Given the description of an element on the screen output the (x, y) to click on. 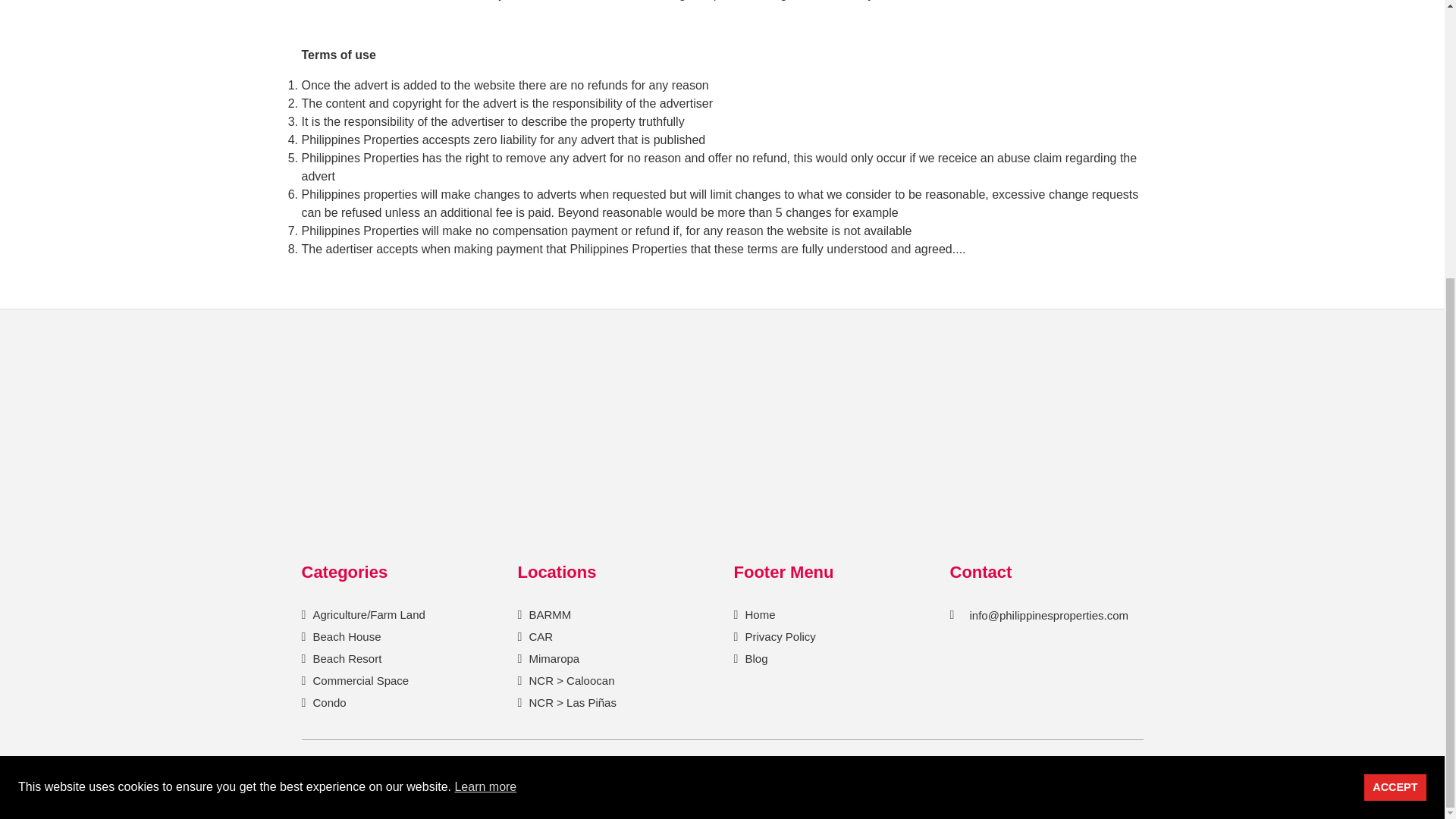
ACCEPT (1395, 374)
Commercial Space (358, 680)
Beach Resort (344, 658)
Home (758, 614)
Blog (754, 658)
Learn more (485, 374)
Privacy Policy (778, 635)
CAR (538, 635)
Condo (327, 702)
Mimaropa (551, 658)
BARMM (547, 614)
Beach House (344, 635)
